Given the description of an element on the screen output the (x, y) to click on. 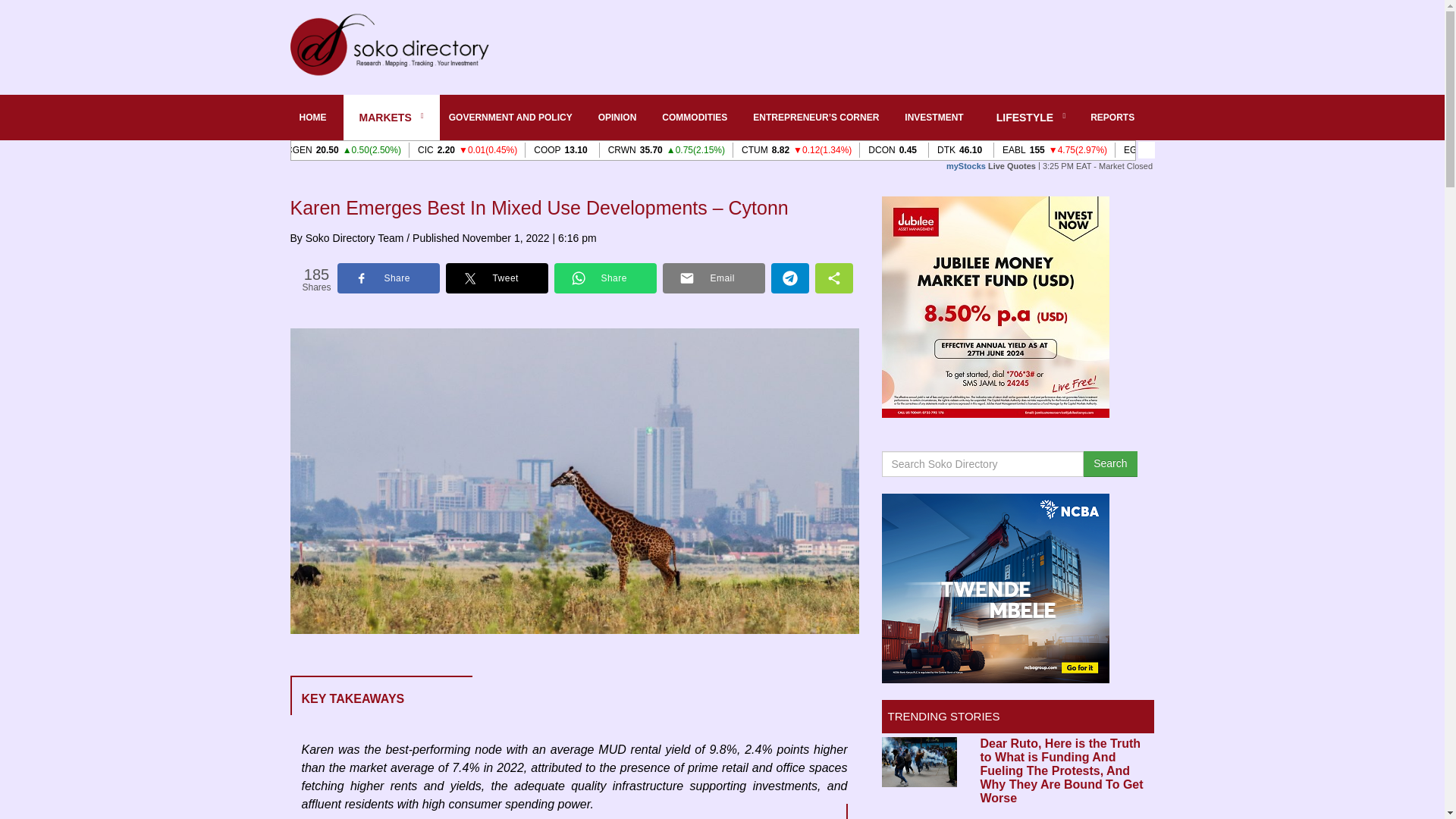
Advertisement (833, 45)
OPINION (621, 116)
Search (1110, 463)
INVESTMENT (937, 116)
GOVERNMENT AND POLICY (514, 116)
LIFESTYLE (1030, 116)
HOME (315, 116)
Search (1110, 463)
REPORTS (1116, 116)
COMMODITIES (698, 116)
MARKETS (390, 116)
